Given the description of an element on the screen output the (x, y) to click on. 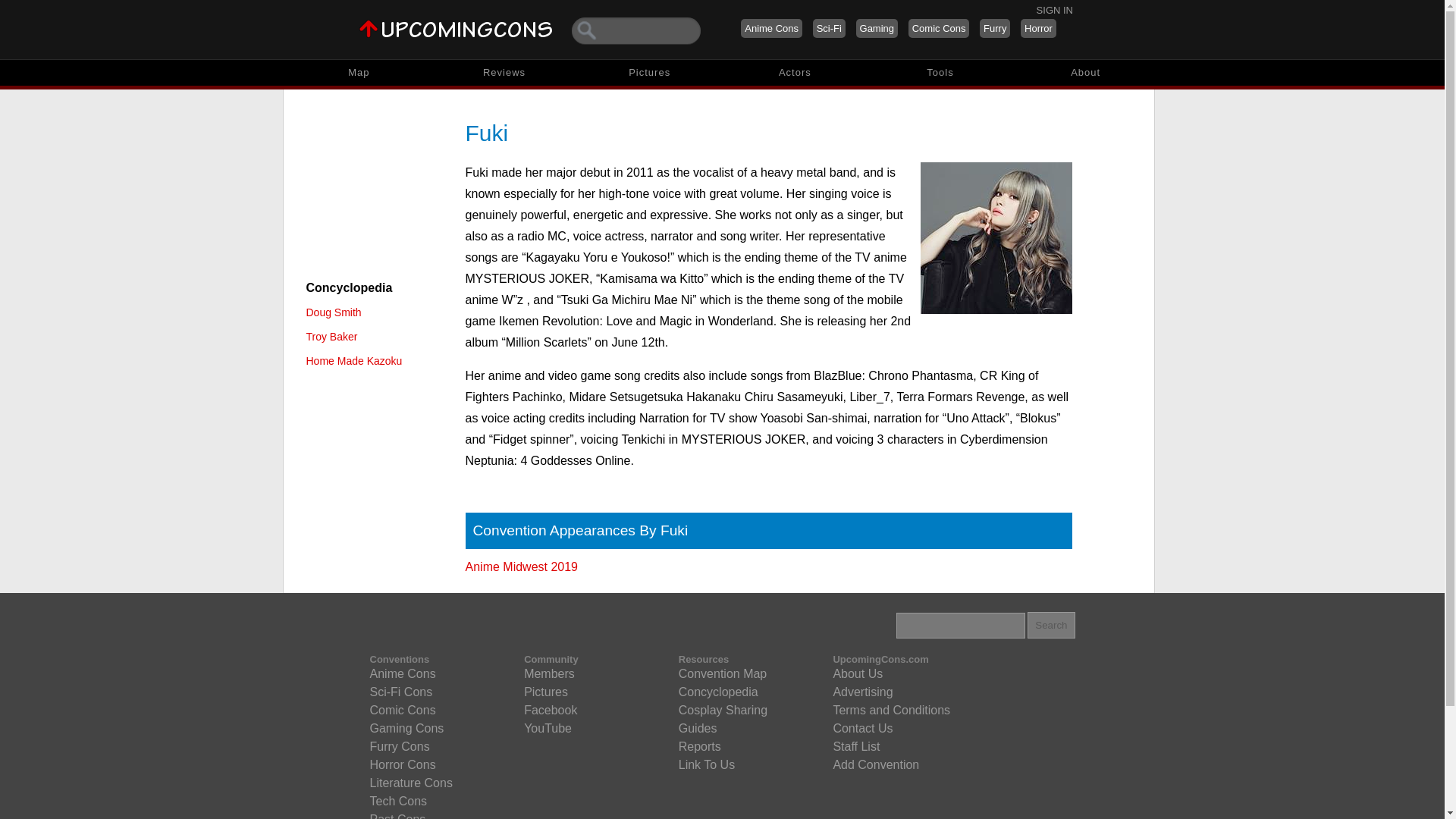
Pictures (649, 72)
About (1085, 72)
Reports (699, 746)
Anime Cons (402, 674)
Furry Cons (399, 746)
Search (1050, 624)
Guides (697, 728)
Troy Baker (331, 336)
Advertisement (373, 184)
Gaming Cons (406, 728)
Search (1050, 624)
Anime Cons (771, 27)
Horror Cons (402, 764)
Convention Map (722, 674)
Furry (994, 27)
